Given the description of an element on the screen output the (x, y) to click on. 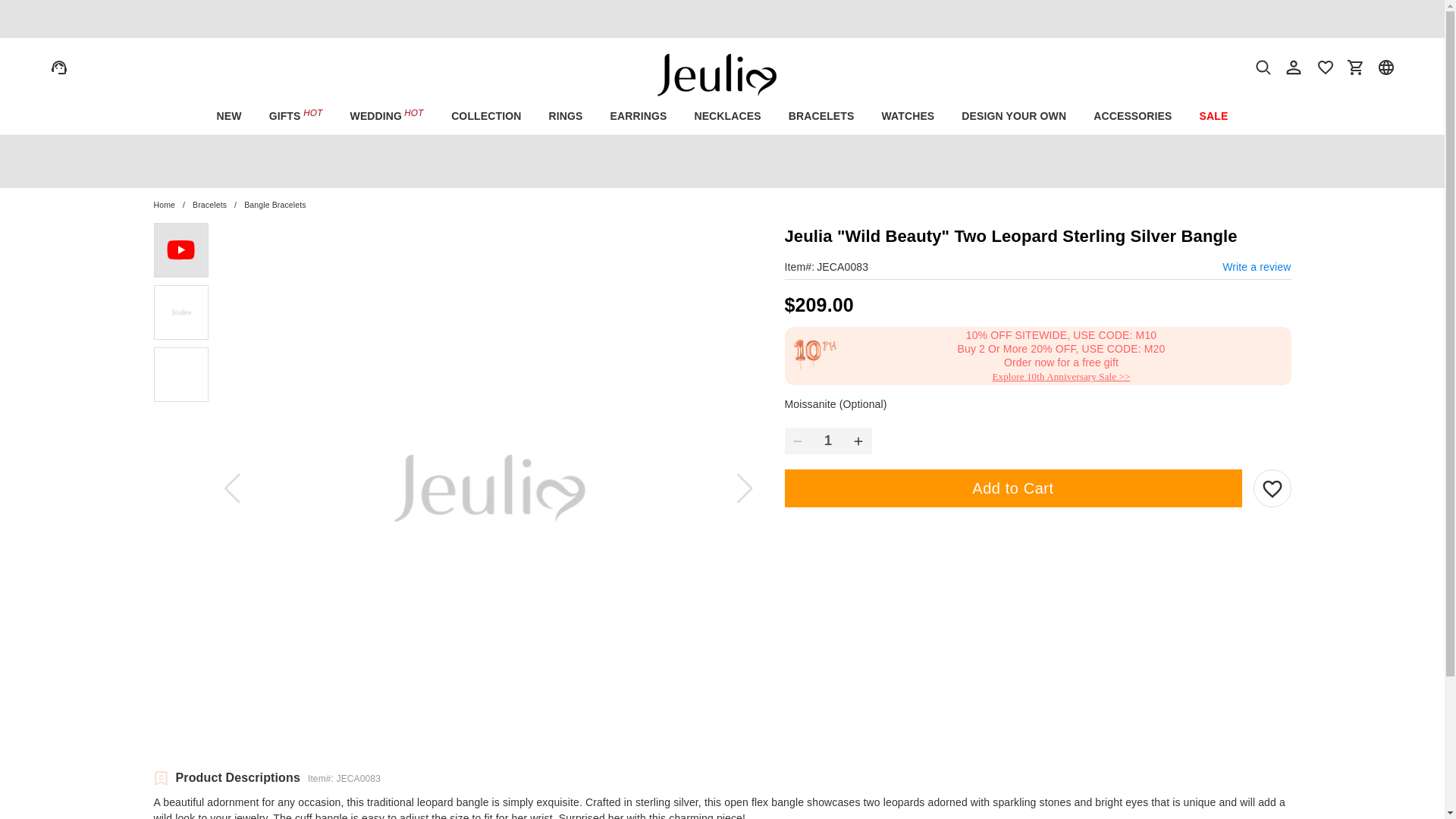
Write a review (1256, 267)
Add to Cart (1012, 487)
WATCHES (907, 116)
Jeulia Jewelry (722, 65)
1 (827, 440)
RINGS (564, 116)
SALE (1213, 116)
ACCESSORIES (1132, 116)
WEDDING (387, 116)
Bracelets (209, 205)
